Given the description of an element on the screen output the (x, y) to click on. 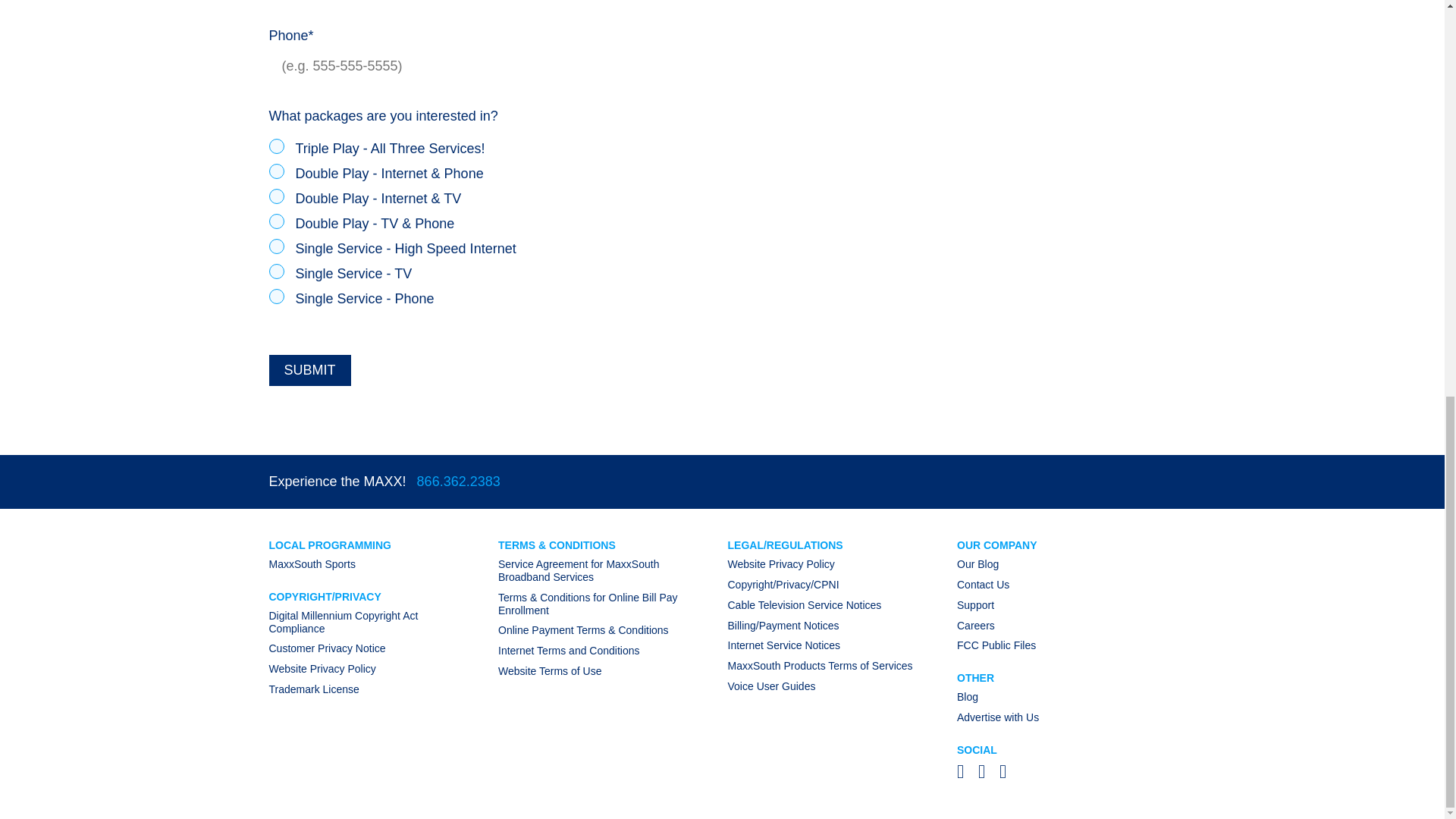
Website Privacy Policy (321, 668)
Submit (308, 369)
Digital Millennium Copyright Act Compliance (342, 621)
MaxxSouth Sports (311, 563)
866.362.2383 (458, 481)
Submit (308, 369)
Trademark License (312, 689)
Service Agreement for MaxxSouth Broadband Services (578, 570)
Customer Privacy Notice (326, 648)
